Given the description of an element on the screen output the (x, y) to click on. 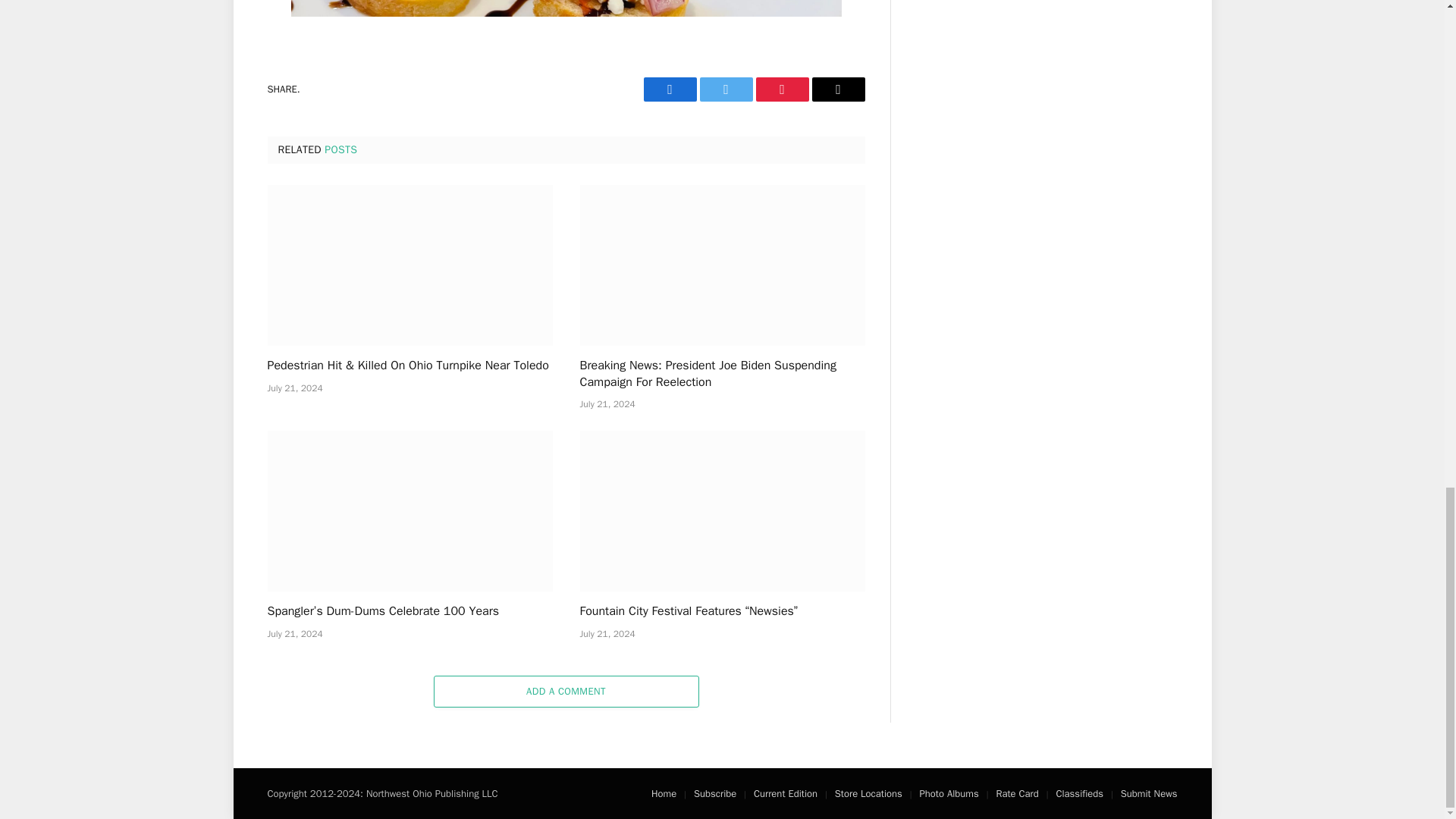
Facebook (669, 88)
Share via Email (837, 88)
Share on Facebook (669, 88)
Share on Pinterest (781, 88)
